Given the description of an element on the screen output the (x, y) to click on. 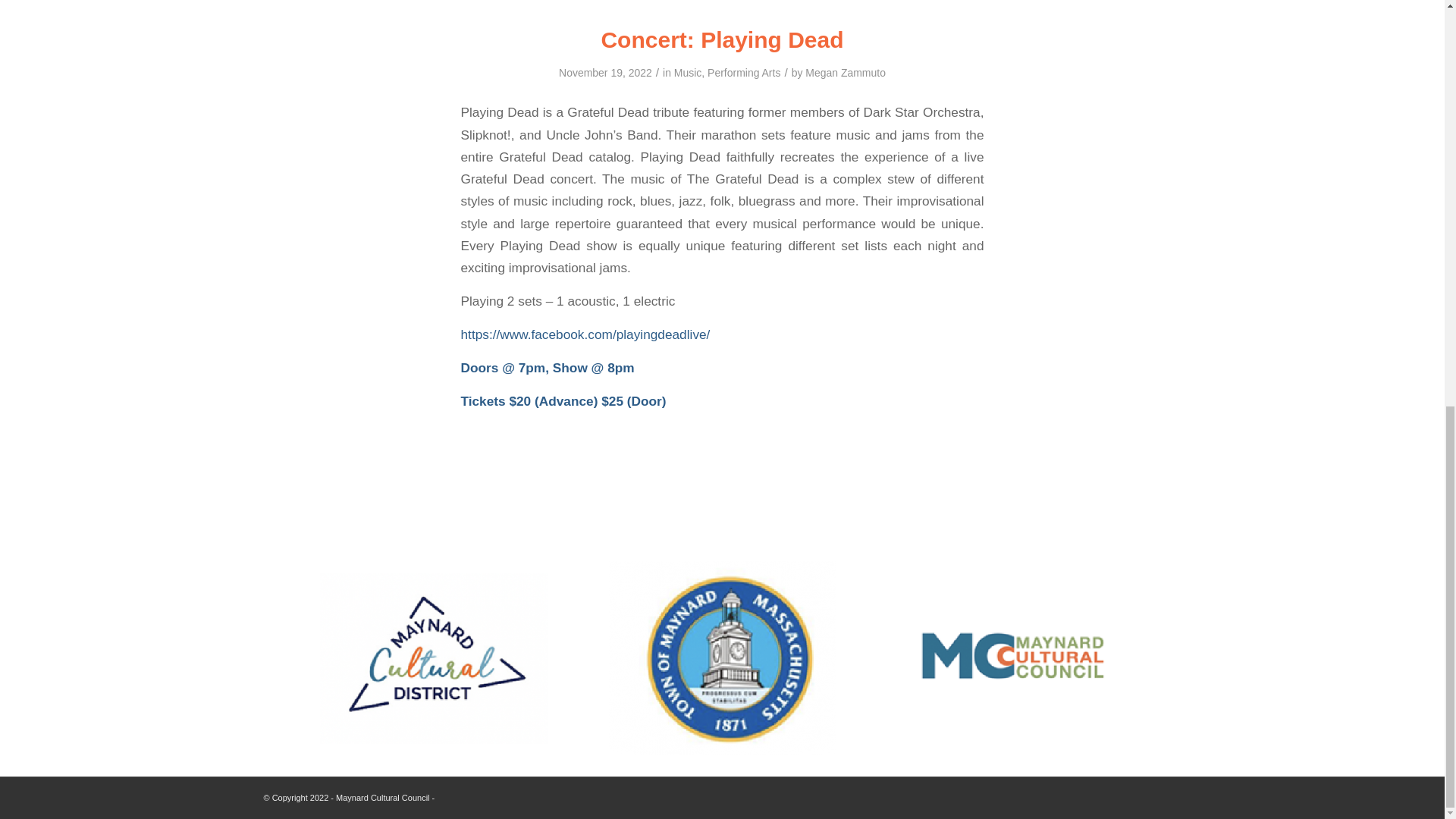
mcc-logo (1011, 658)
Music (687, 72)
Permanent Link: Concert: Playing Dead (721, 39)
Posts by Megan Zammuto (845, 72)
Concert: Playing Dead (721, 39)
Performing Arts (743, 72)
town-seal (721, 657)
mcd-logo (433, 657)
Megan Zammuto (845, 72)
Tickets (483, 400)
